Given the description of an element on the screen output the (x, y) to click on. 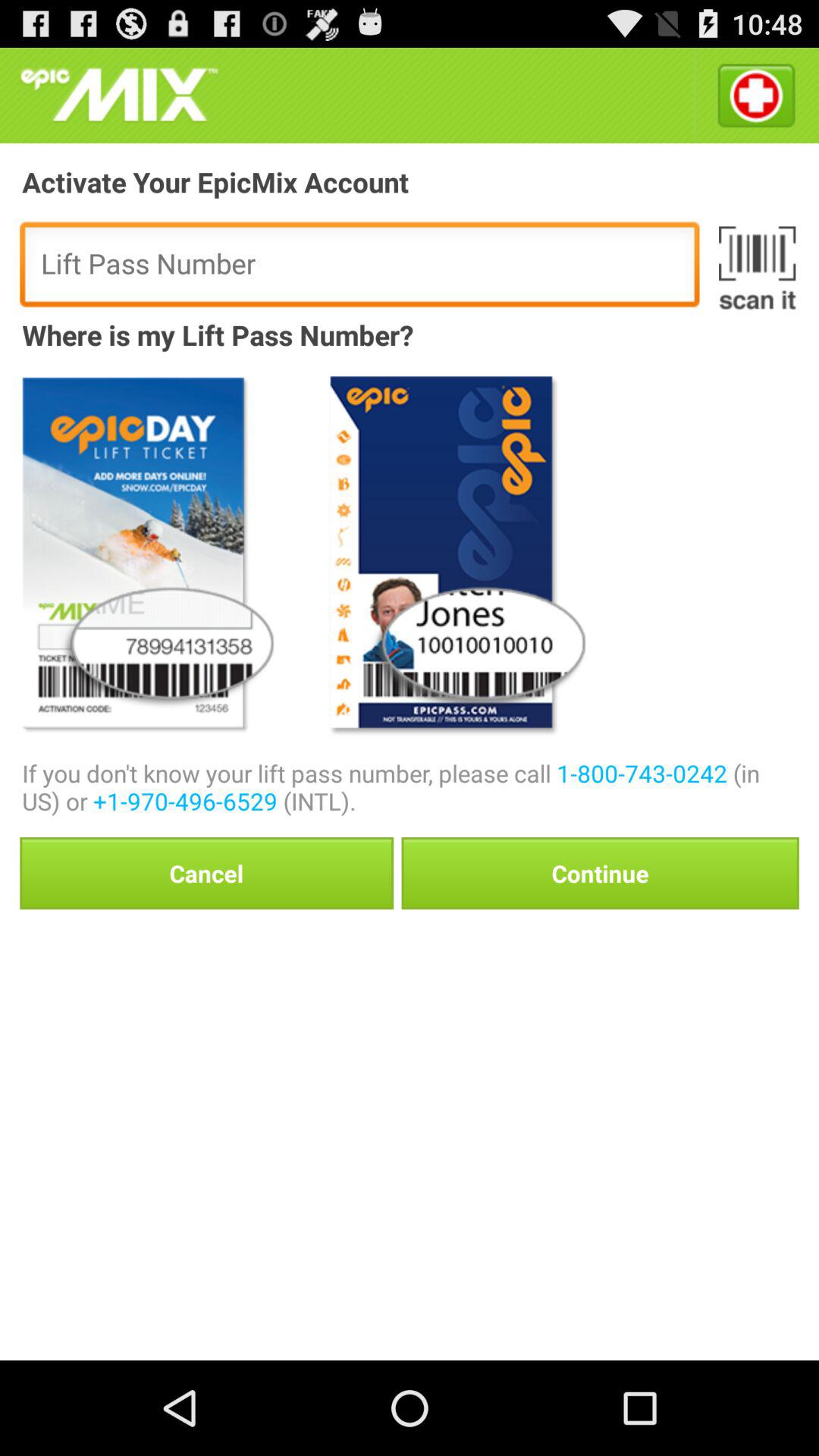
turn on cancel (206, 873)
